Given the description of an element on the screen output the (x, y) to click on. 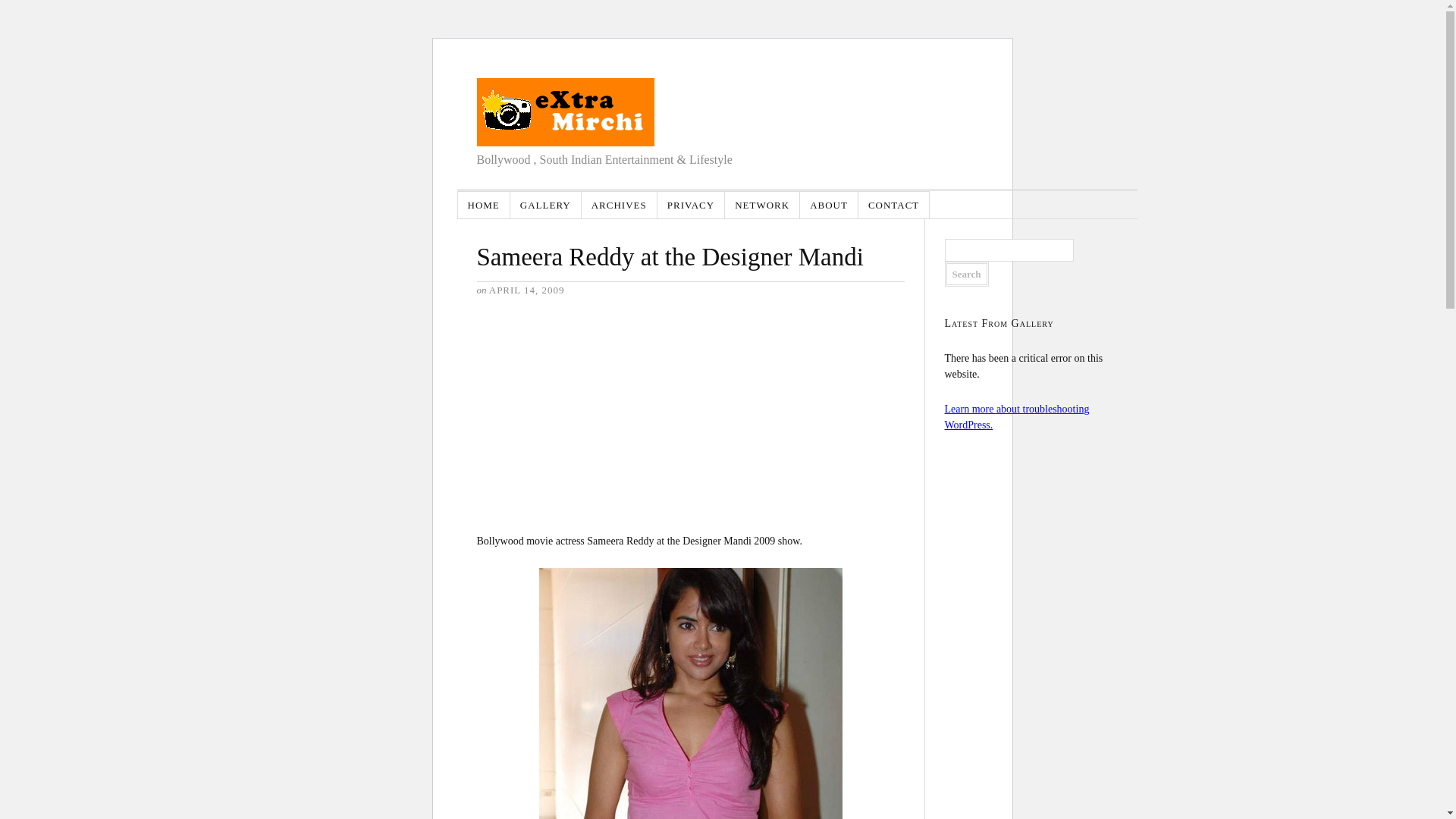
Advertisement (589, 412)
GALLERY (545, 204)
visit the home page (564, 111)
ARCHIVES (619, 204)
HOME (484, 204)
2009-04-14 (526, 289)
